Given the description of an element on the screen output the (x, y) to click on. 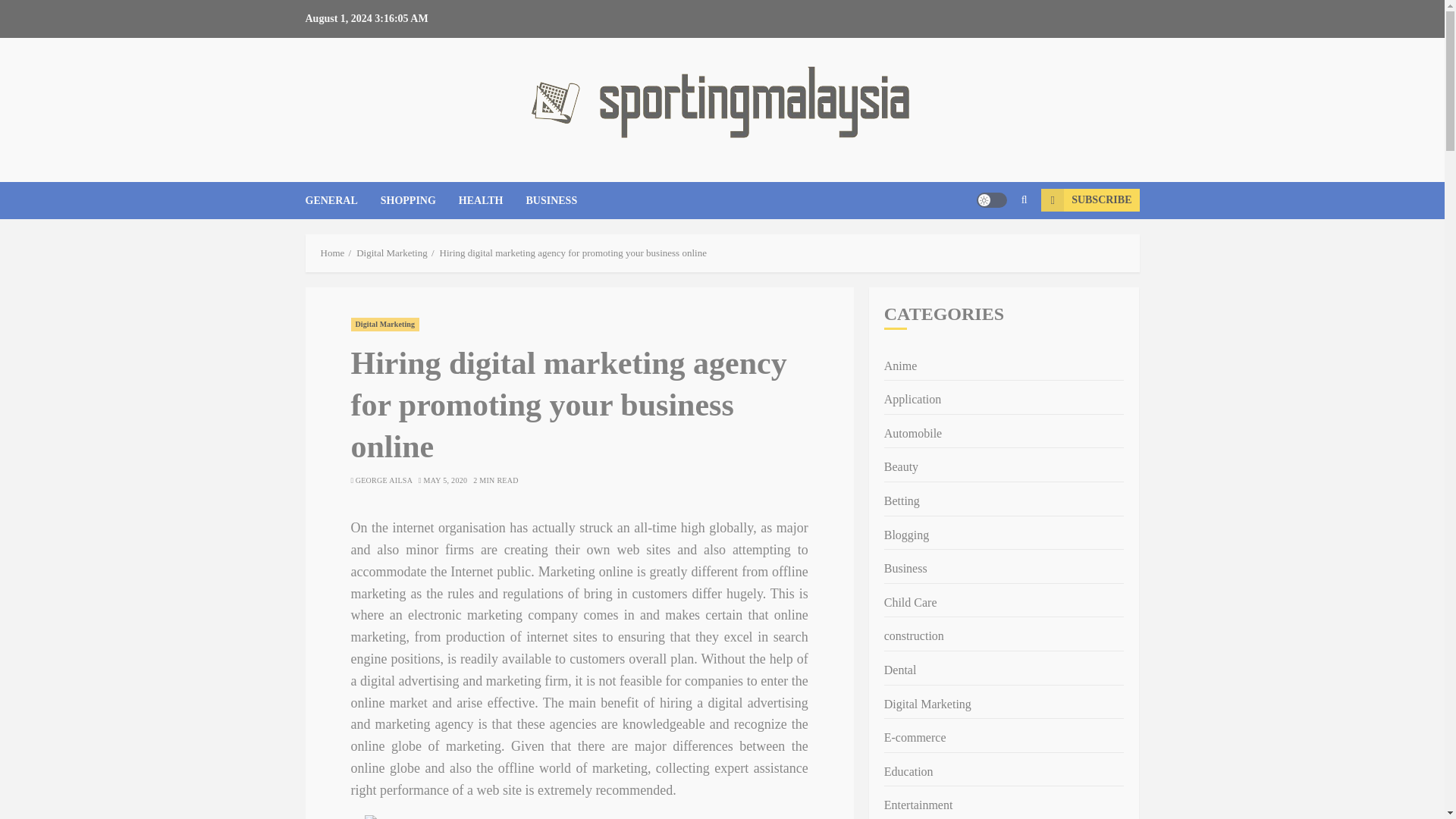
BUSINESS (550, 200)
Betting (901, 501)
Digital Marketing (927, 704)
E-commerce (914, 738)
HEALTH (491, 200)
GENERAL (342, 200)
Child Care (910, 602)
Anime (900, 366)
Search (994, 246)
Digital Marketing (392, 253)
